Given the description of an element on the screen output the (x, y) to click on. 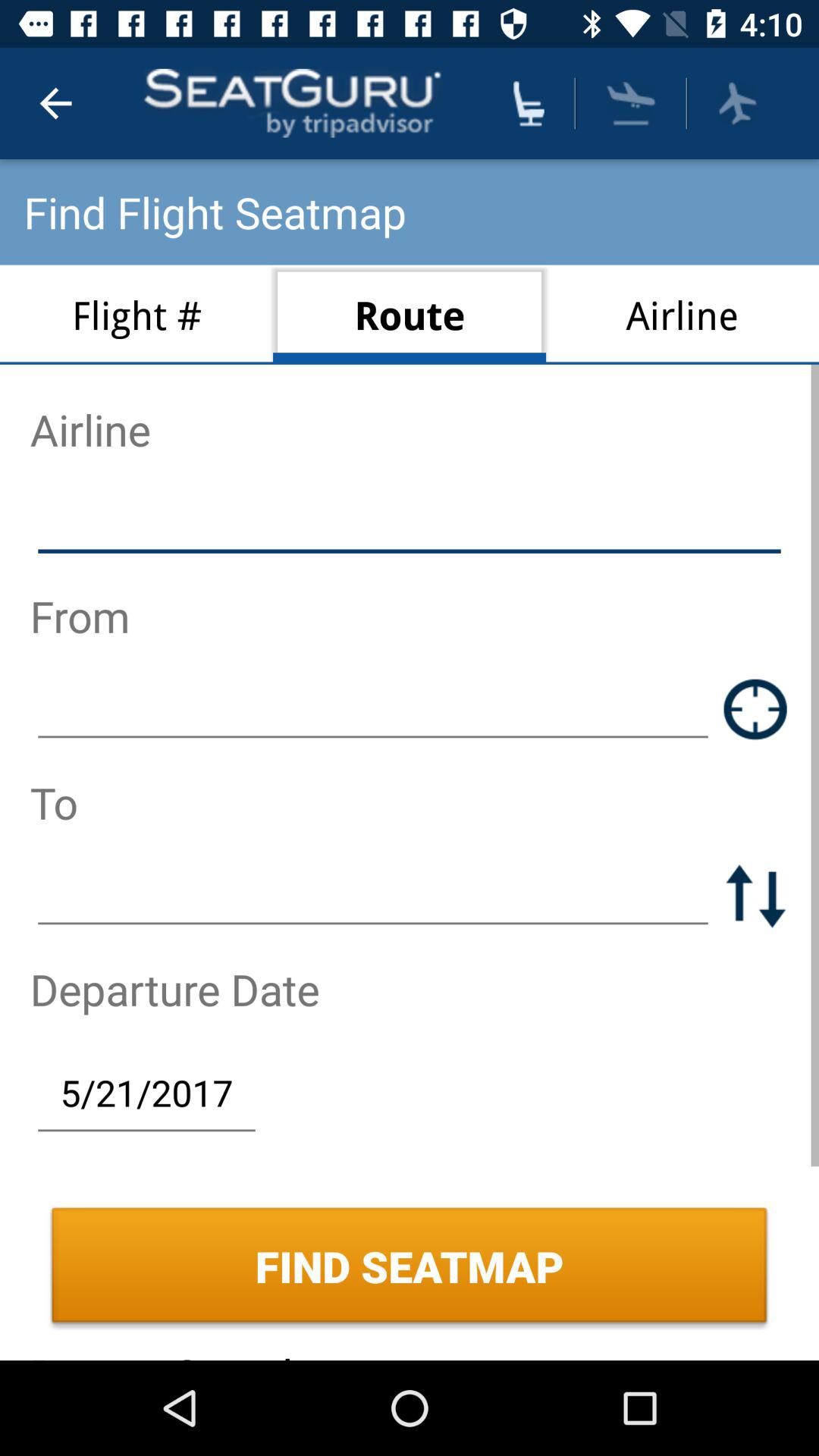
enters destination city (373, 895)
